Given the description of an element on the screen output the (x, y) to click on. 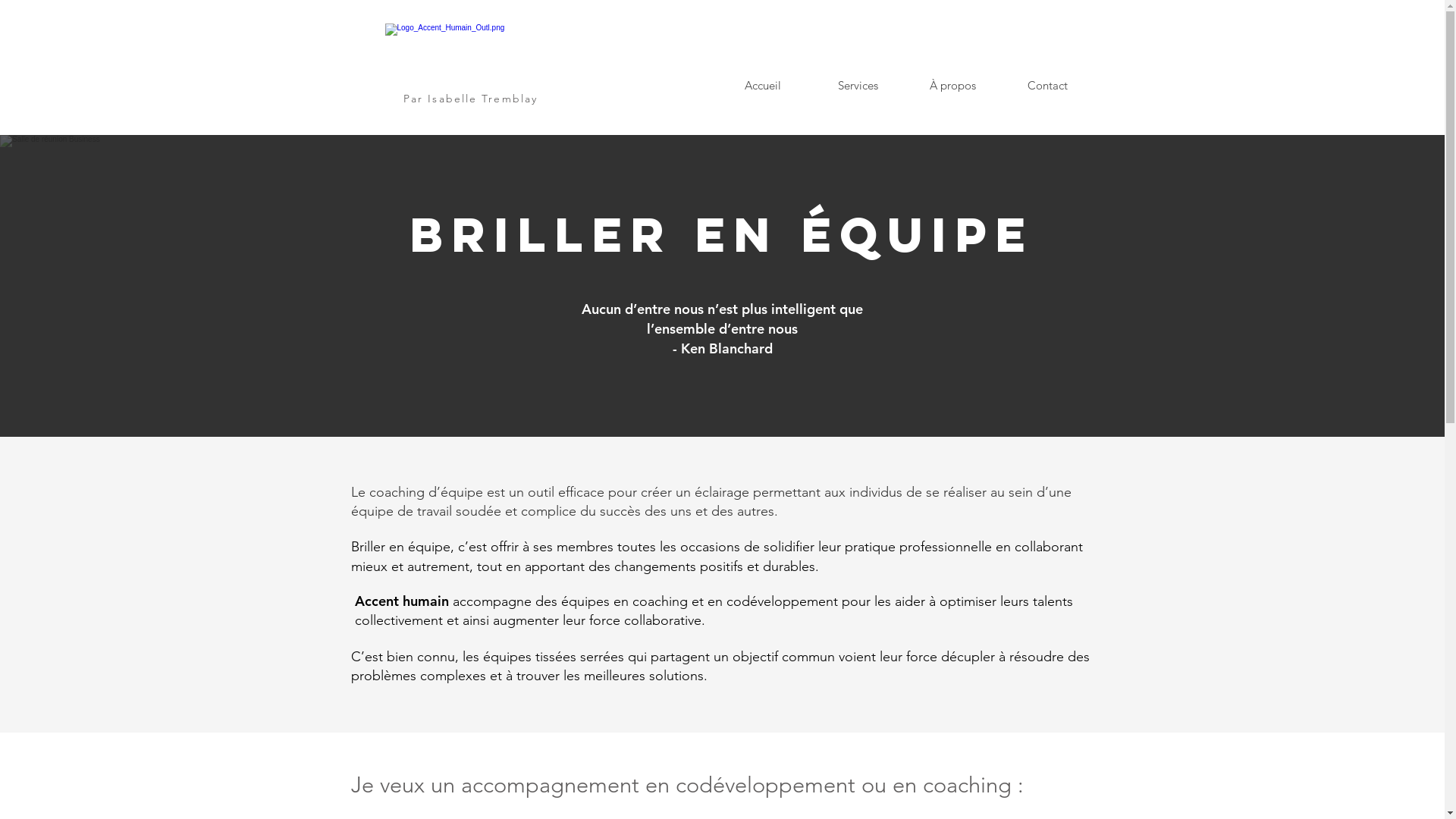
Par Isabelle Tremblay Element type: text (470, 98)
Accueil Element type: text (762, 85)
Contact Element type: text (1046, 85)
